Given the description of an element on the screen output the (x, y) to click on. 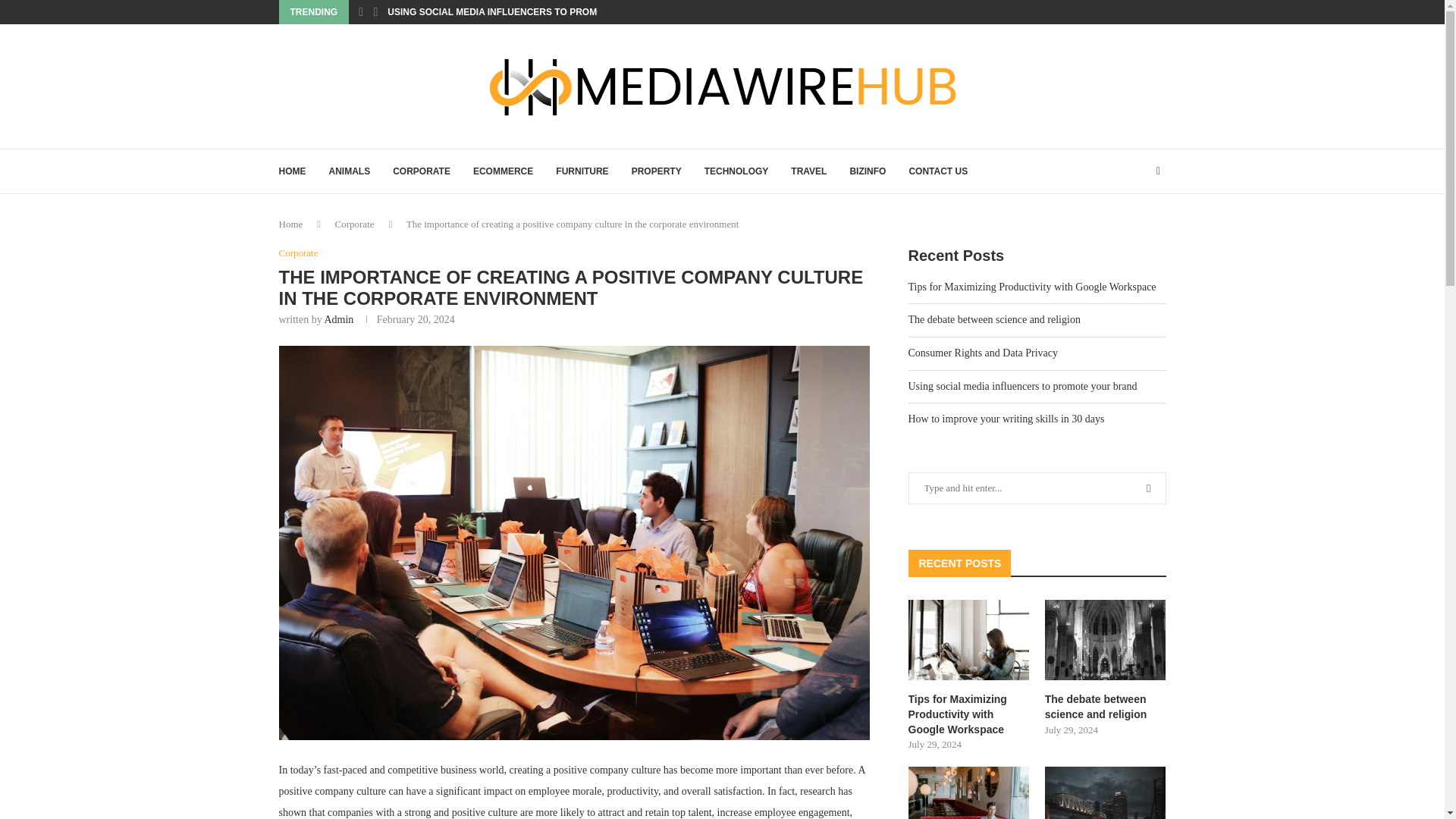
CONTACT US (938, 171)
CORPORATE (421, 171)
TECHNOLOGY (736, 171)
Corporate (354, 224)
PROPERTY (656, 171)
Home (290, 224)
ECOMMERCE (502, 171)
Corporate (298, 253)
FURNITURE (582, 171)
USING SOCIAL MEDIA INFLUENCERS TO PROMOTE YOUR BRAND (533, 12)
ANIMALS (350, 171)
